Given the description of an element on the screen output the (x, y) to click on. 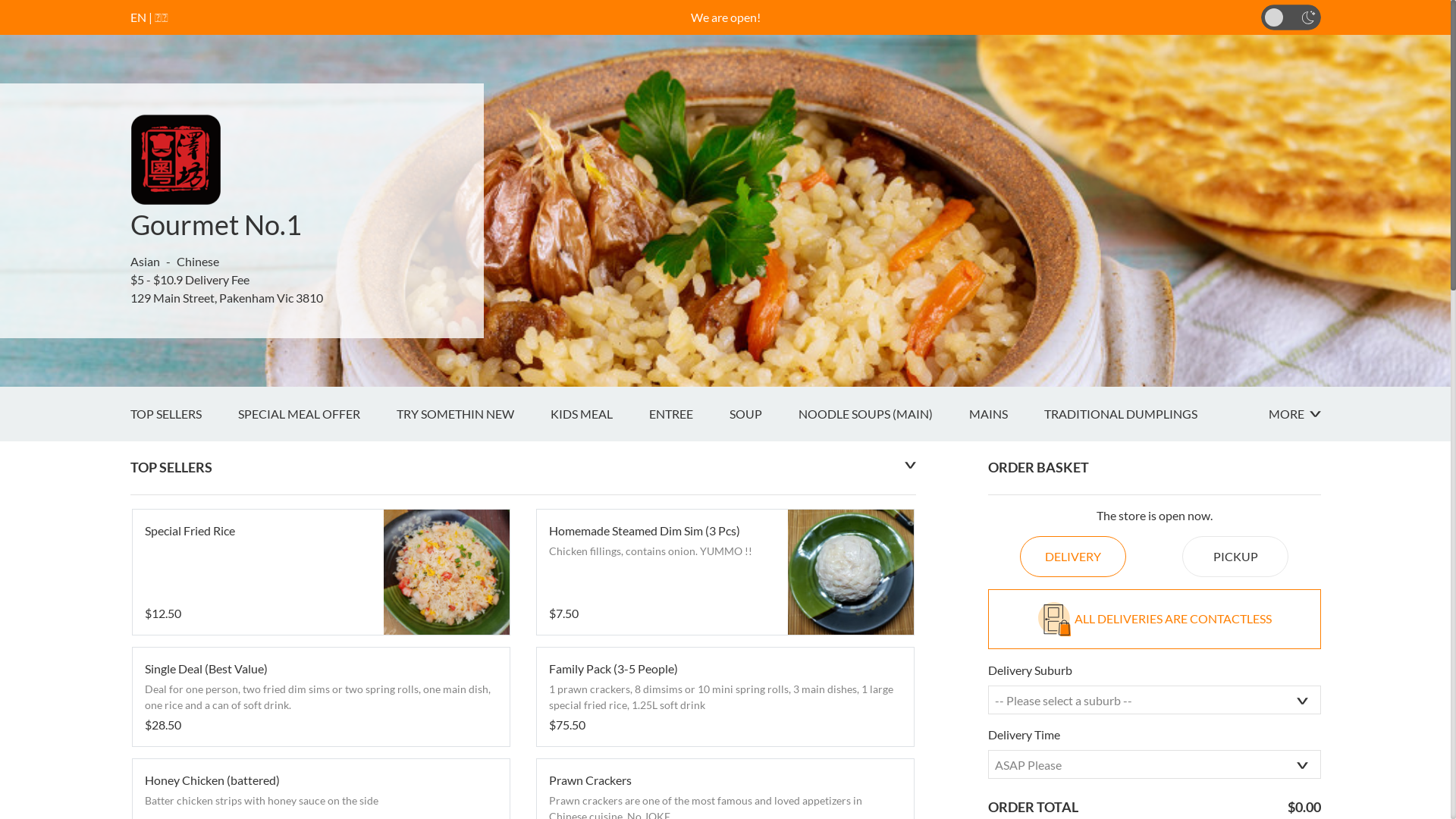
DELIVERY Element type: text (1072, 556)
Special Fried Rice
$12.50 Element type: text (320, 572)
TRADITIONAL DUMPLINGS Element type: text (1138, 413)
Gourmet No.1 Element type: text (215, 224)
ENTREE Element type: text (689, 413)
TRY SOMETHIN NEW Element type: text (472, 413)
KIDS MEAL Element type: text (599, 413)
MORE Element type: text (1293, 413)
TOP SELLERS Element type: text (184, 413)
EN Element type: text (138, 16)
NOODLE SOUPS (MAIN) Element type: text (882, 413)
SOUP Element type: text (763, 413)
SPECIAL MEAL OFFER Element type: text (317, 413)
MAINS Element type: text (1006, 413)
Special Fried Rice
$12.50 Element type: text (320, 572)
PICKUP Element type: text (1235, 556)
